Given the description of an element on the screen output the (x, y) to click on. 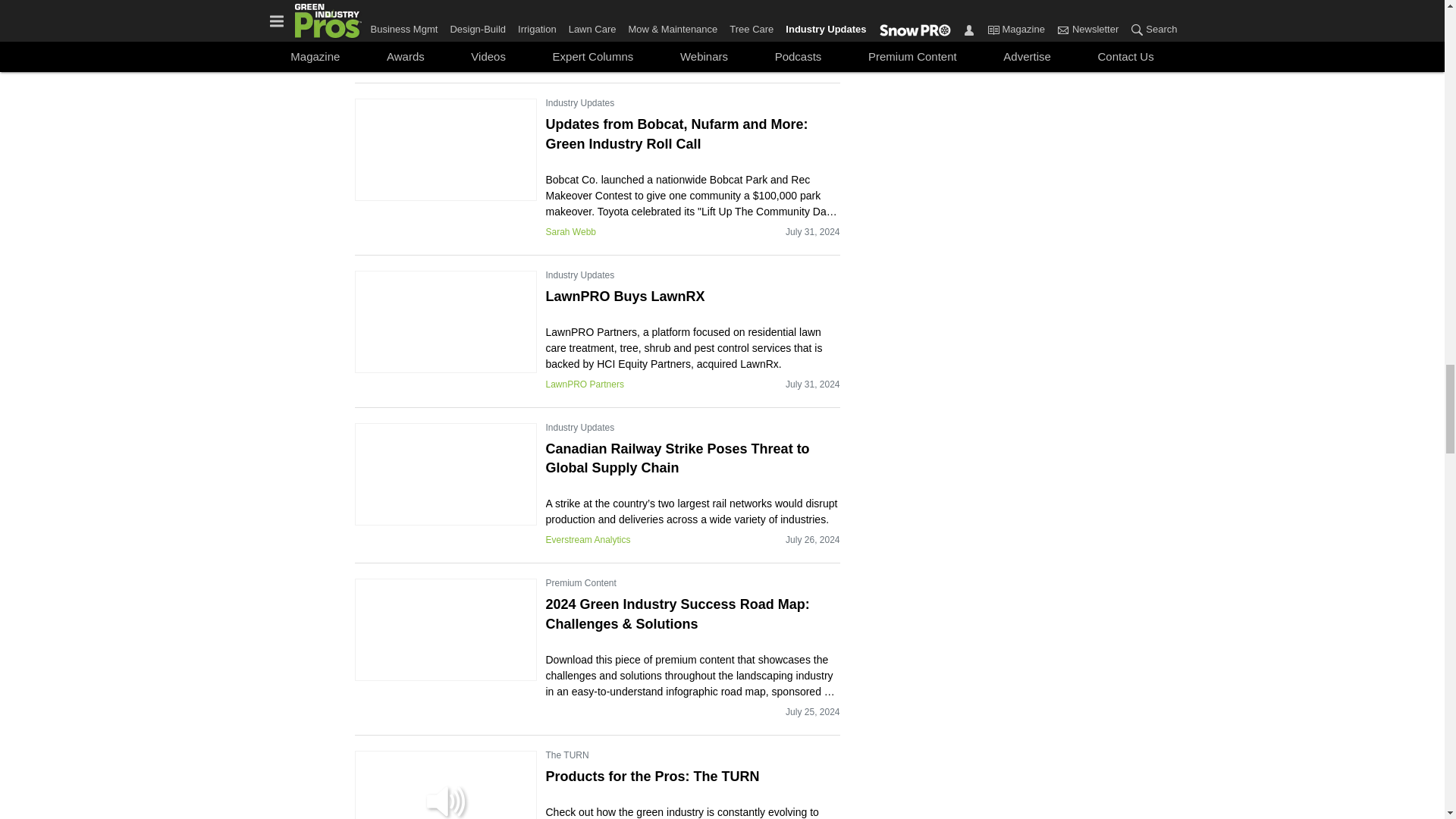
Industry Updates (580, 274)
Industry Updates (580, 427)
Industry Updates (580, 102)
